Given the description of an element on the screen output the (x, y) to click on. 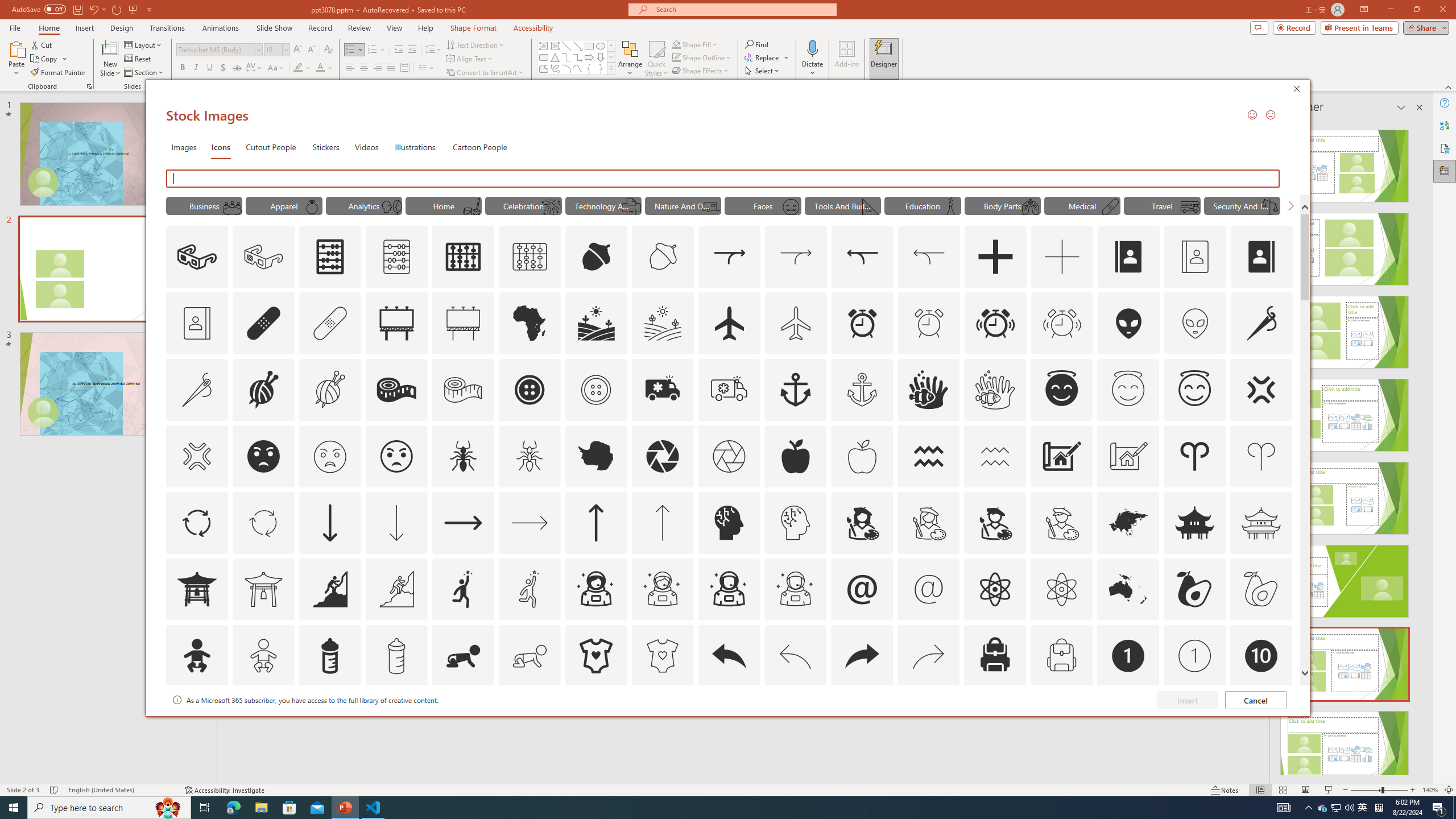
AutomationID: Icons_AsianTemple1_M (263, 588)
Freeform: Scribble (554, 68)
AutomationID: Icons_AsianTemple (1194, 522)
AutomationID: Icons_AlienFace (1128, 323)
AutomationID: Icons_Abacus1 (462, 256)
Next Search Suggestion (1290, 205)
AutomationID: Icons_AlterationsTailoring_M (196, 389)
AutomationID: Icons_Atom (995, 588)
